Given the description of an element on the screen output the (x, y) to click on. 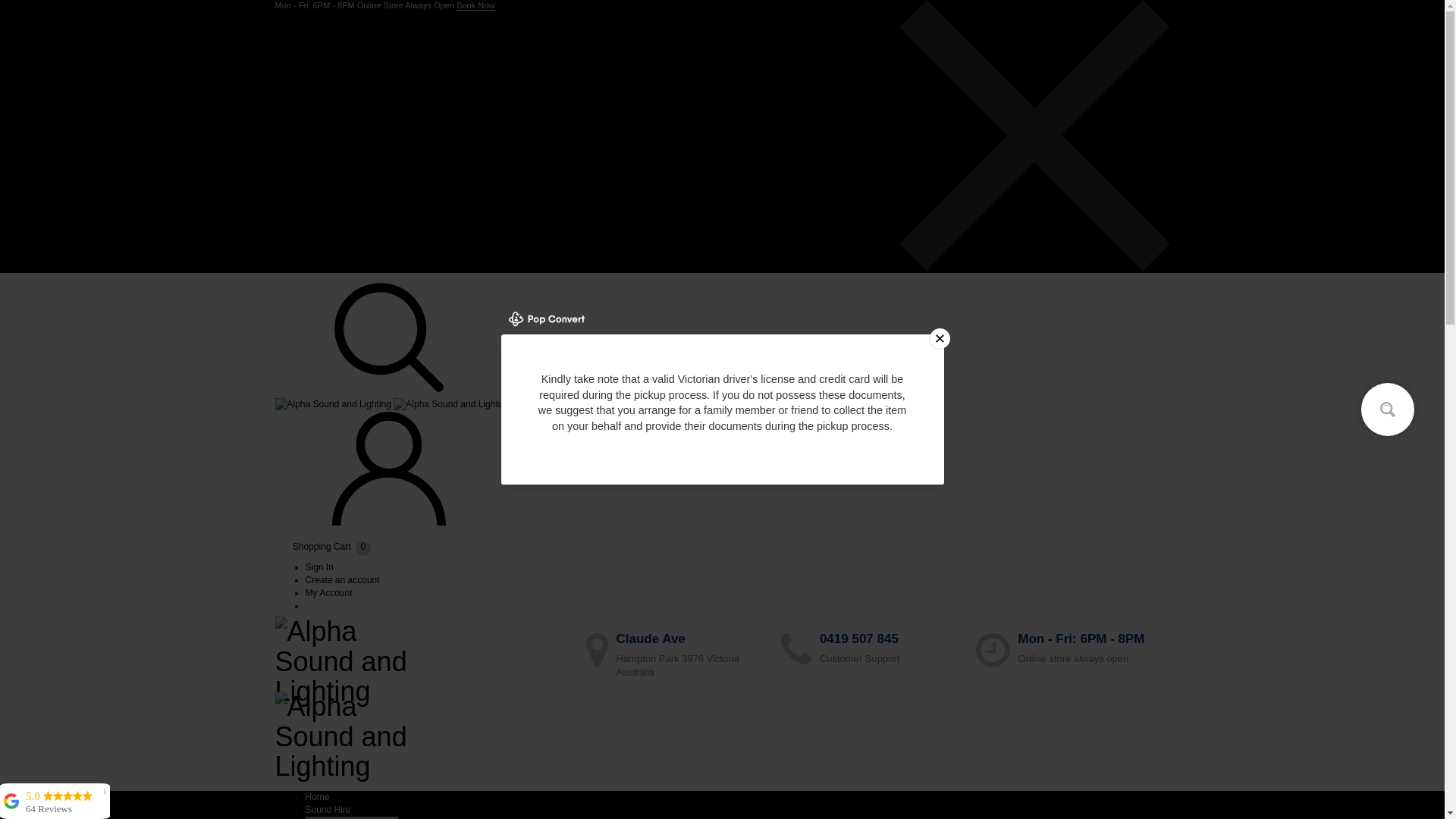
Book Now Element type: text (475, 5)
Create an account Element type: text (341, 579)
Sign In Element type: text (318, 566)
Shopping Cart 0 Element type: text (322, 546)
Home Element type: text (316, 796)
My Account Element type: text (327, 592)
Sound Hire Element type: text (327, 809)
